Given the description of an element on the screen output the (x, y) to click on. 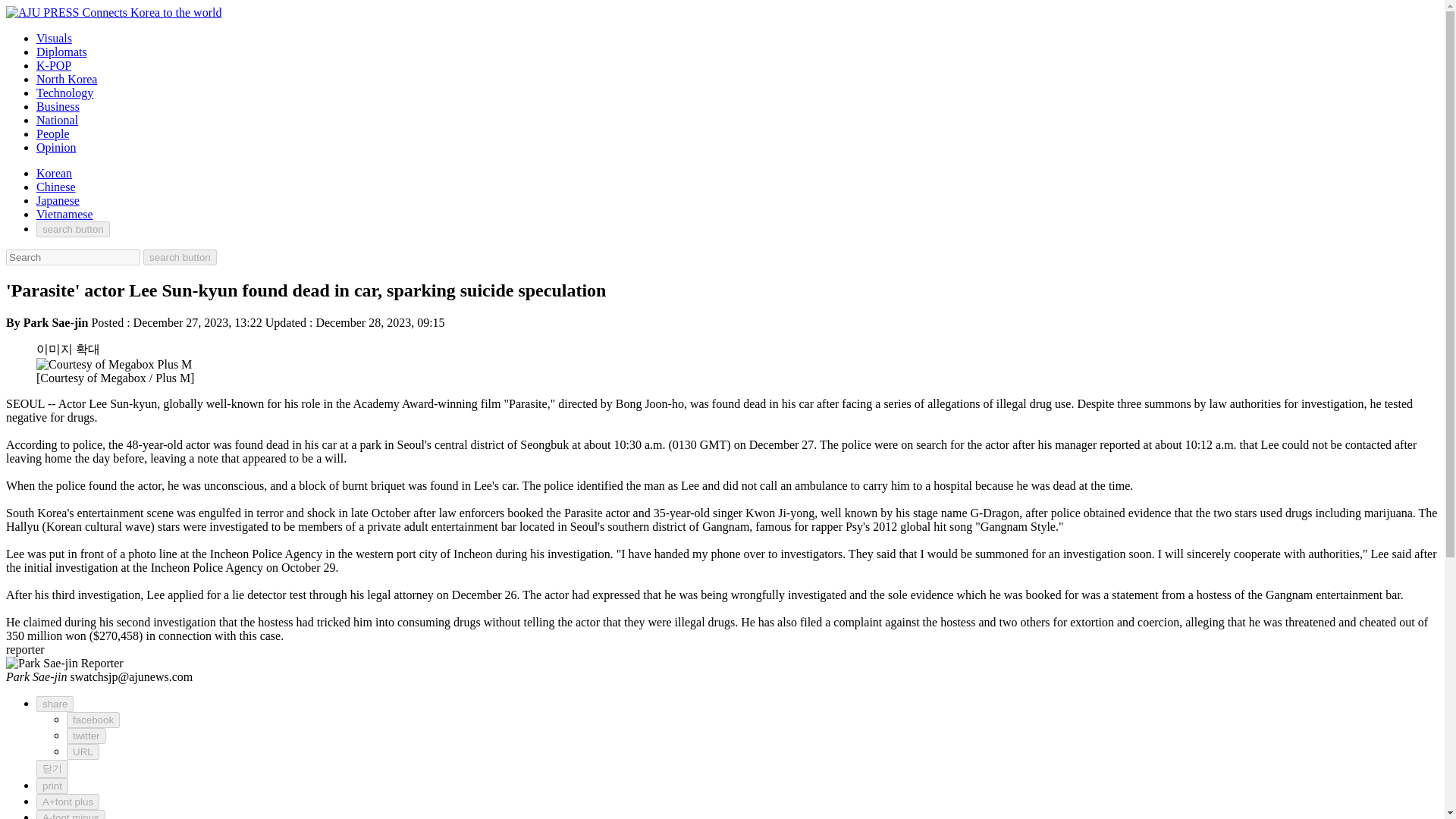
search button (179, 257)
Korean (53, 173)
Vietnamese (64, 214)
print (52, 785)
facebook (92, 719)
search button (73, 229)
Chinese (55, 186)
Visuals (53, 38)
Technology (64, 92)
People (52, 133)
National (57, 119)
K-POP (53, 65)
Diplomats (61, 51)
URL (82, 751)
A-font minus (70, 814)
